Given the description of an element on the screen output the (x, y) to click on. 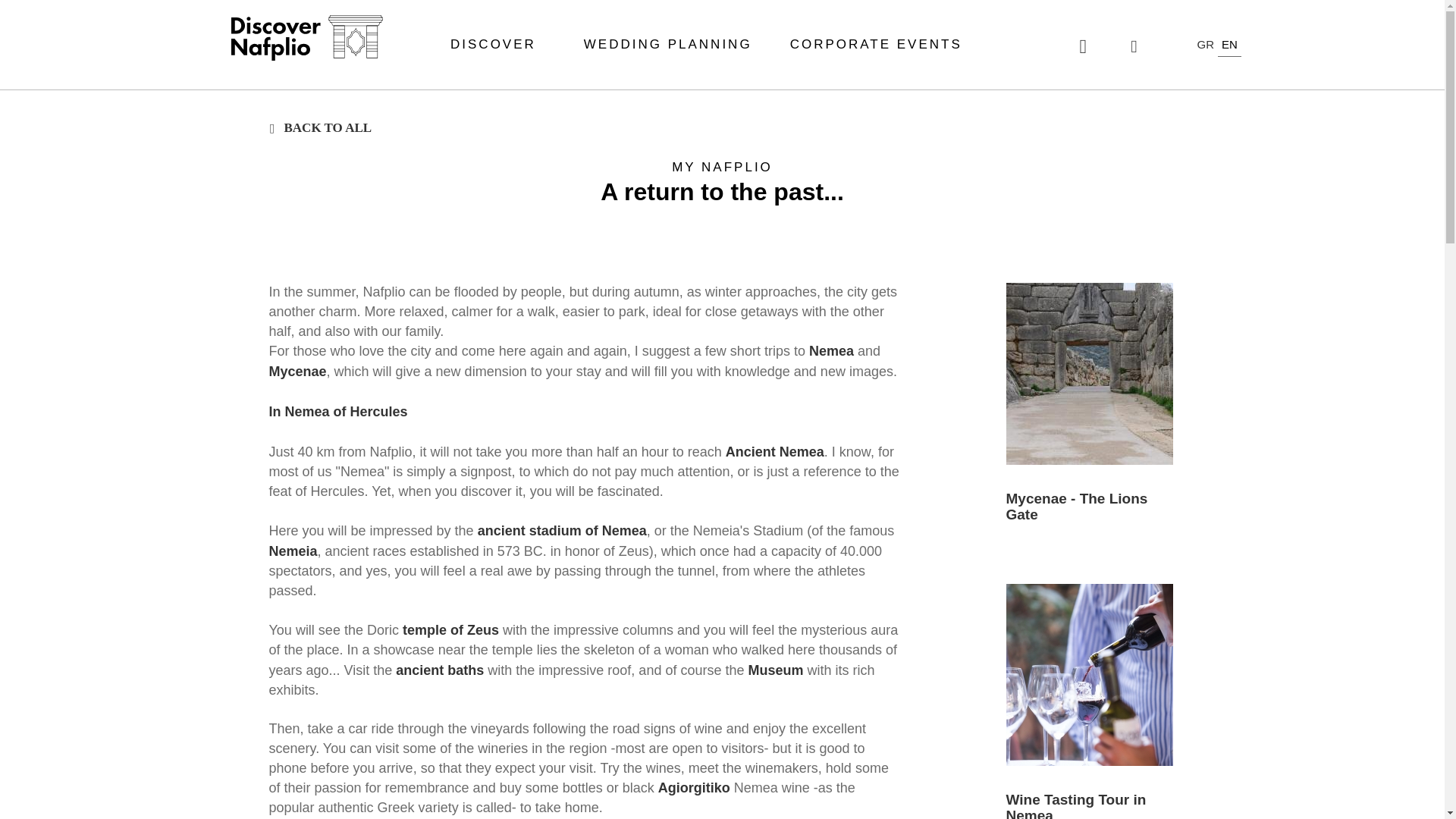
CORPORATE EVENTS (876, 44)
EN (1229, 44)
DISCOVER (497, 44)
Home (306, 37)
WEDDING PLANNING (667, 44)
GR (1204, 44)
